Given the description of an element on the screen output the (x, y) to click on. 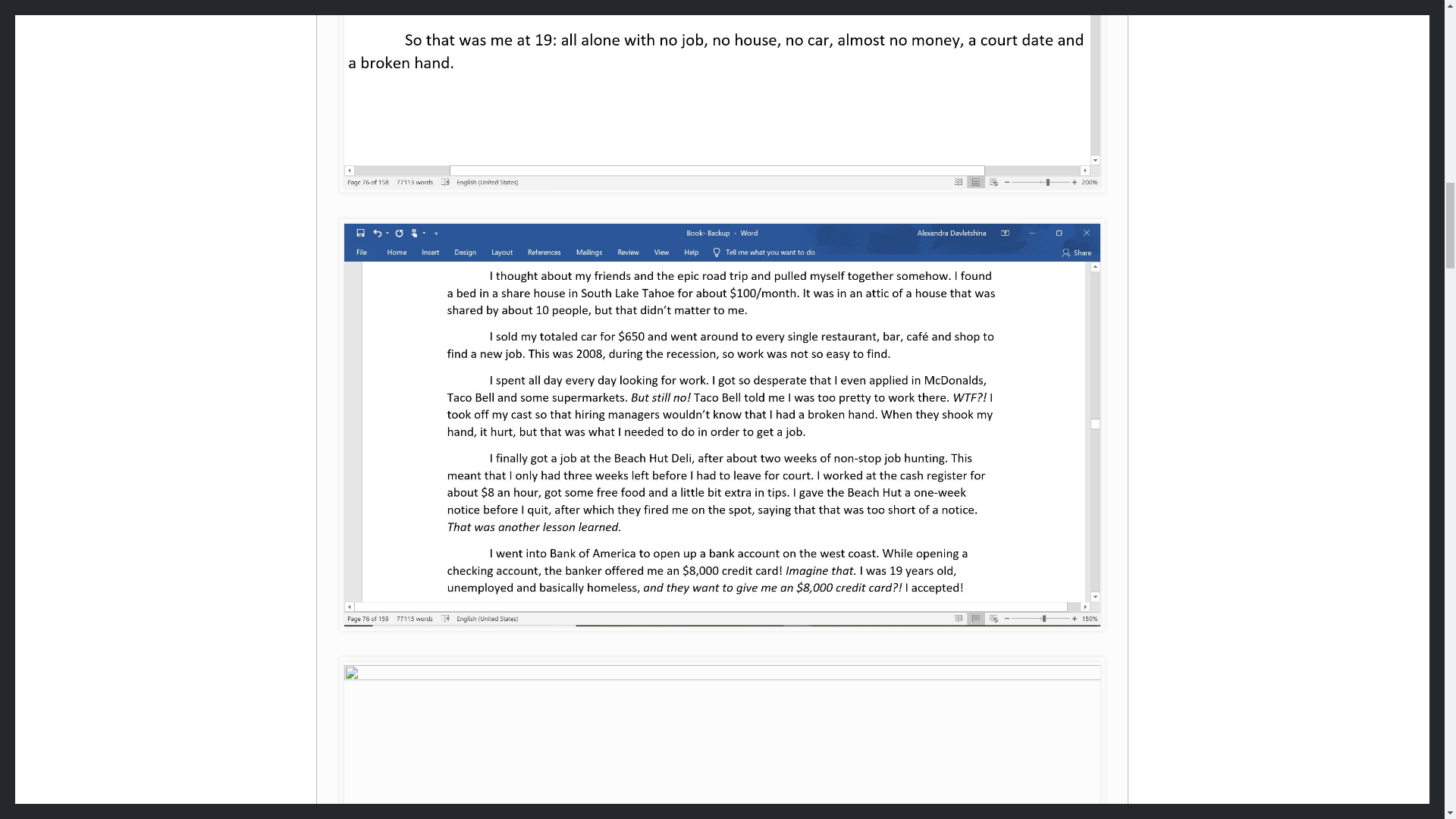
4 (721, 740)
